Given the description of an element on the screen output the (x, y) to click on. 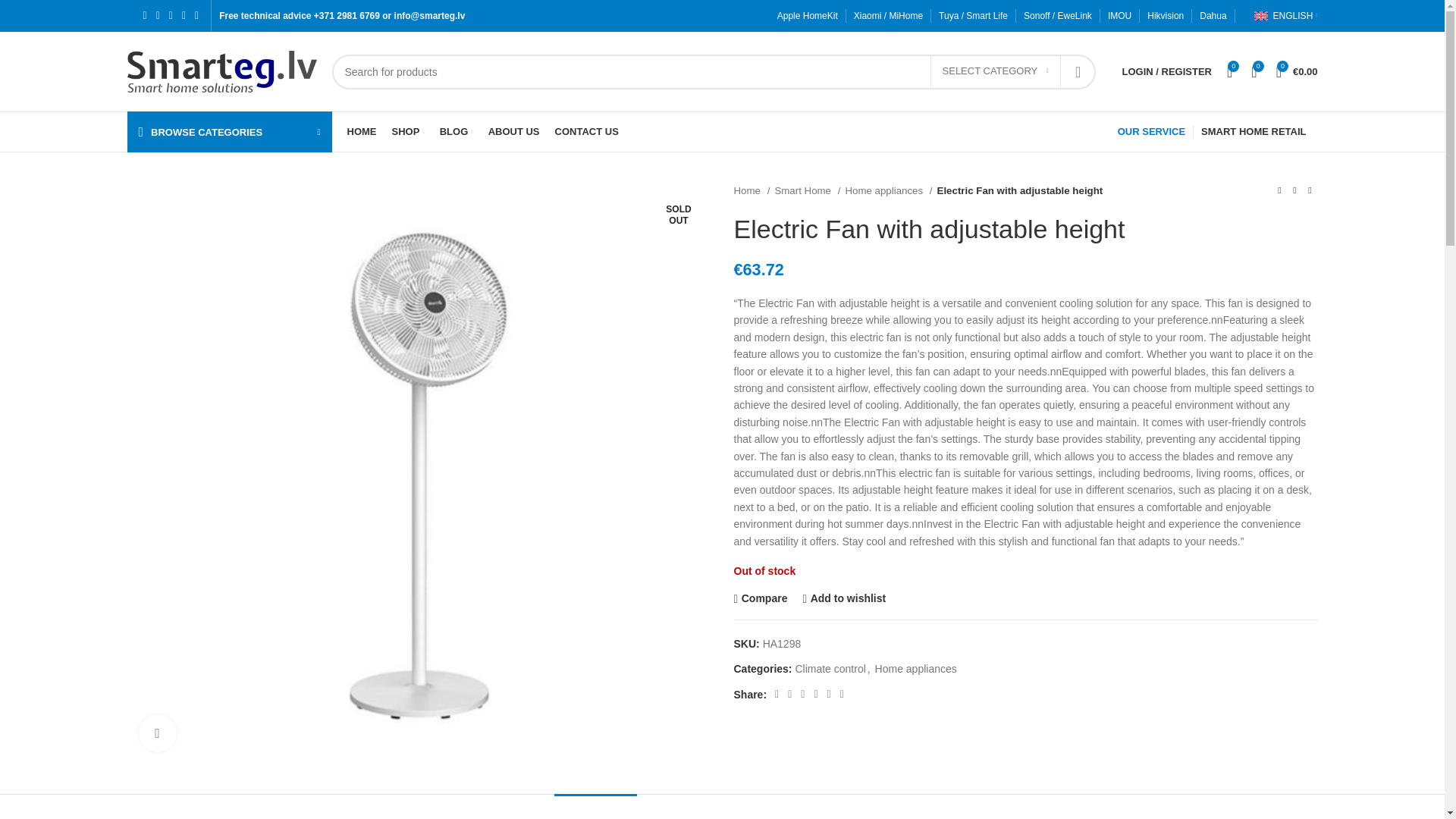
My account (1167, 71)
Search for products (713, 71)
Hikvision (1165, 15)
SELECT CATEGORY (995, 71)
IMOU (1119, 15)
Apple HomeKit (807, 15)
ENGLISH (1285, 15)
Shopping cart (1296, 71)
SELECT CATEGORY (995, 71)
Dahua (1212, 15)
